Given the description of an element on the screen output the (x, y) to click on. 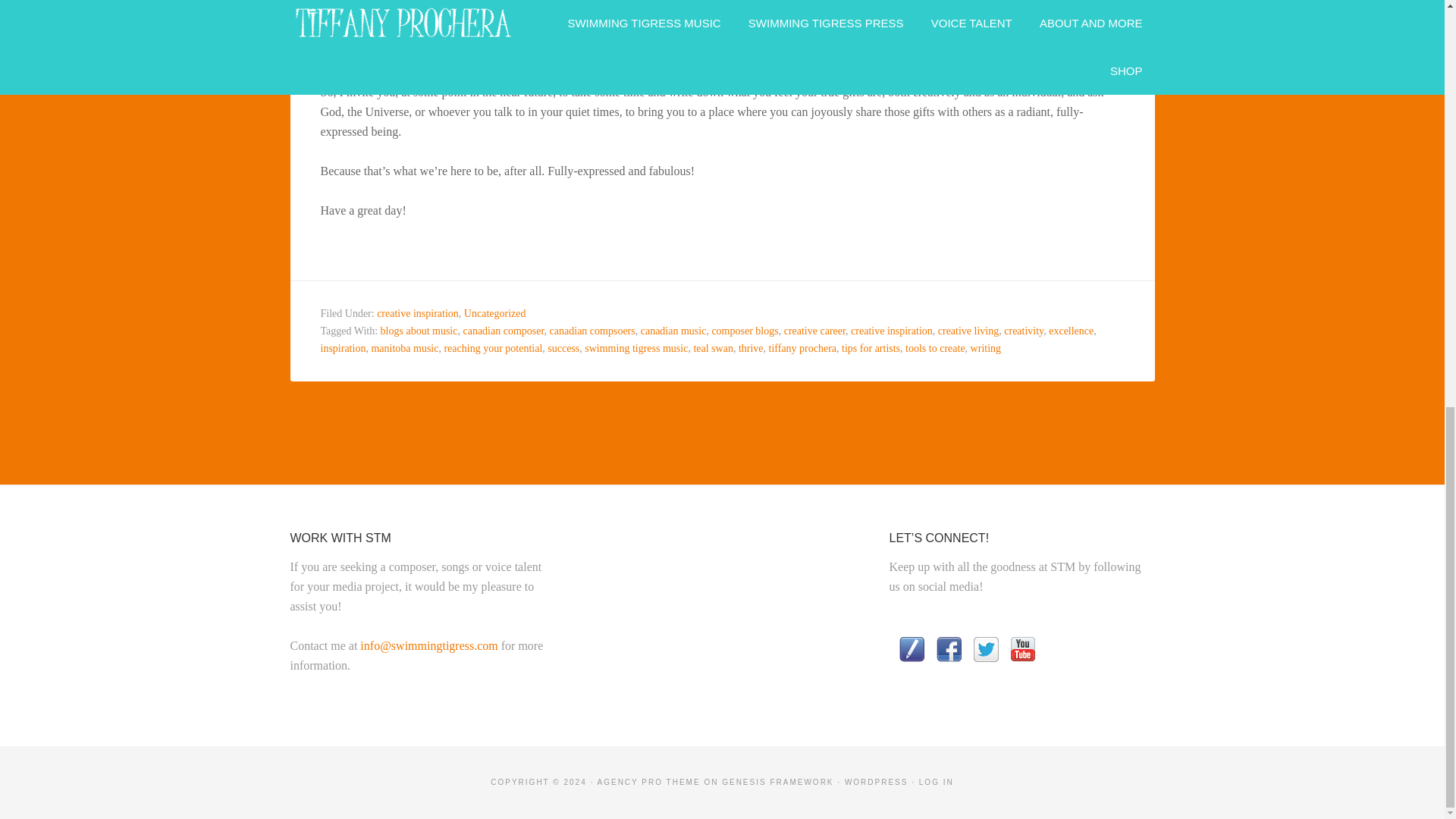
Uncategorized (494, 313)
creative inspiration (891, 330)
creativity (1023, 330)
creative inspiration (417, 313)
blogs about music (419, 330)
inspiration (342, 348)
creative living (967, 330)
Link to my Twitter Page (986, 651)
Link to my Facebook Page (948, 651)
canadian composer (503, 330)
